Given the description of an element on the screen output the (x, y) to click on. 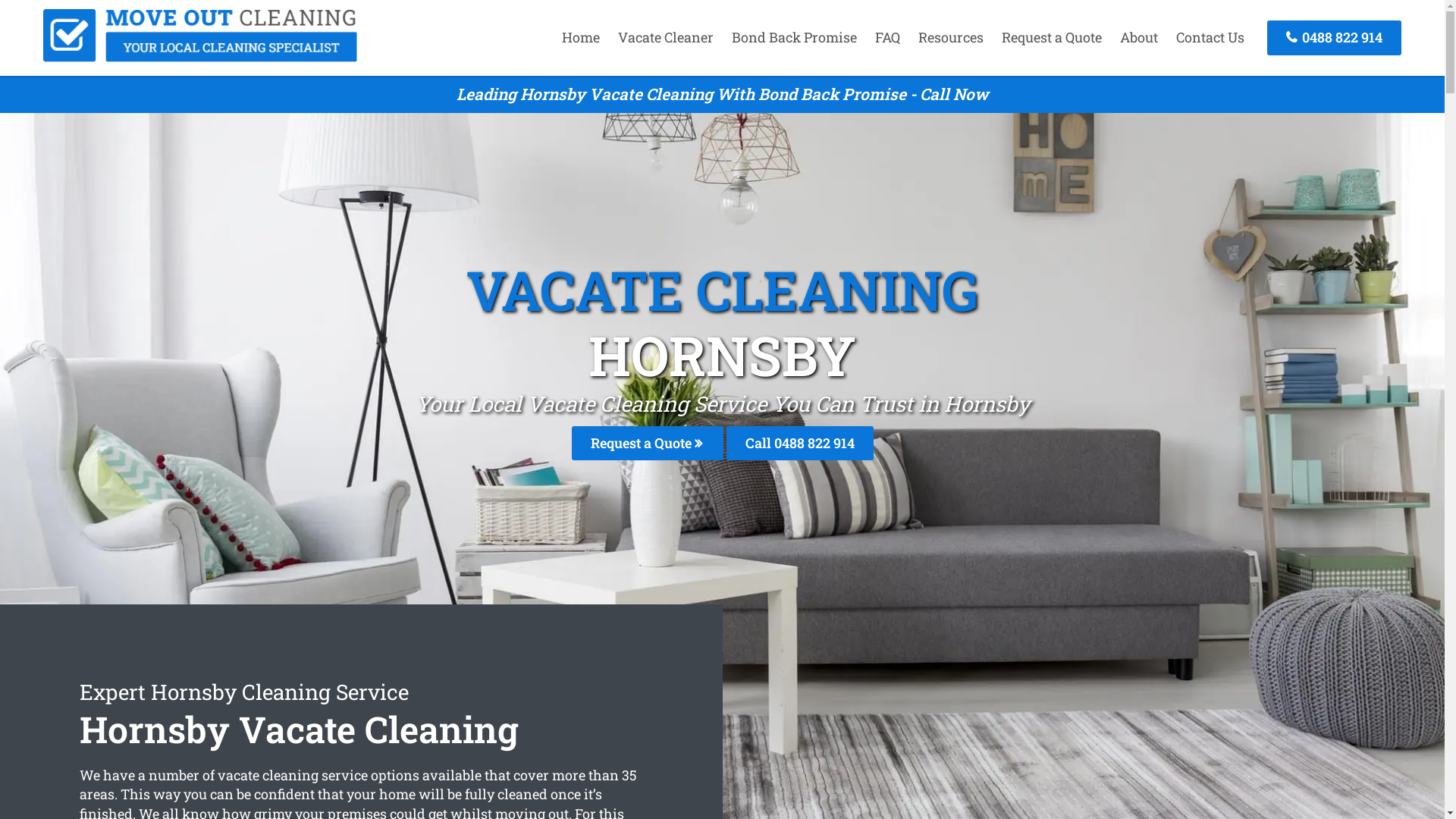
Home Element type: text (580, 37)
Contact Us Element type: text (1210, 37)
FAQ Element type: text (887, 37)
Resources Element type: text (950, 37)
Request a Quote Element type: text (647, 443)
Bond Back Promise Element type: text (794, 37)
0488 822 914 Element type: text (1334, 37)
About Element type: text (1138, 37)
End of Lease Cleaning Element type: hover (200, 56)
Request a Quote Element type: text (1051, 37)
Call 0488 822 914 Element type: text (799, 443)
Vacate Cleaner Element type: text (665, 37)
